Given the description of an element on the screen output the (x, y) to click on. 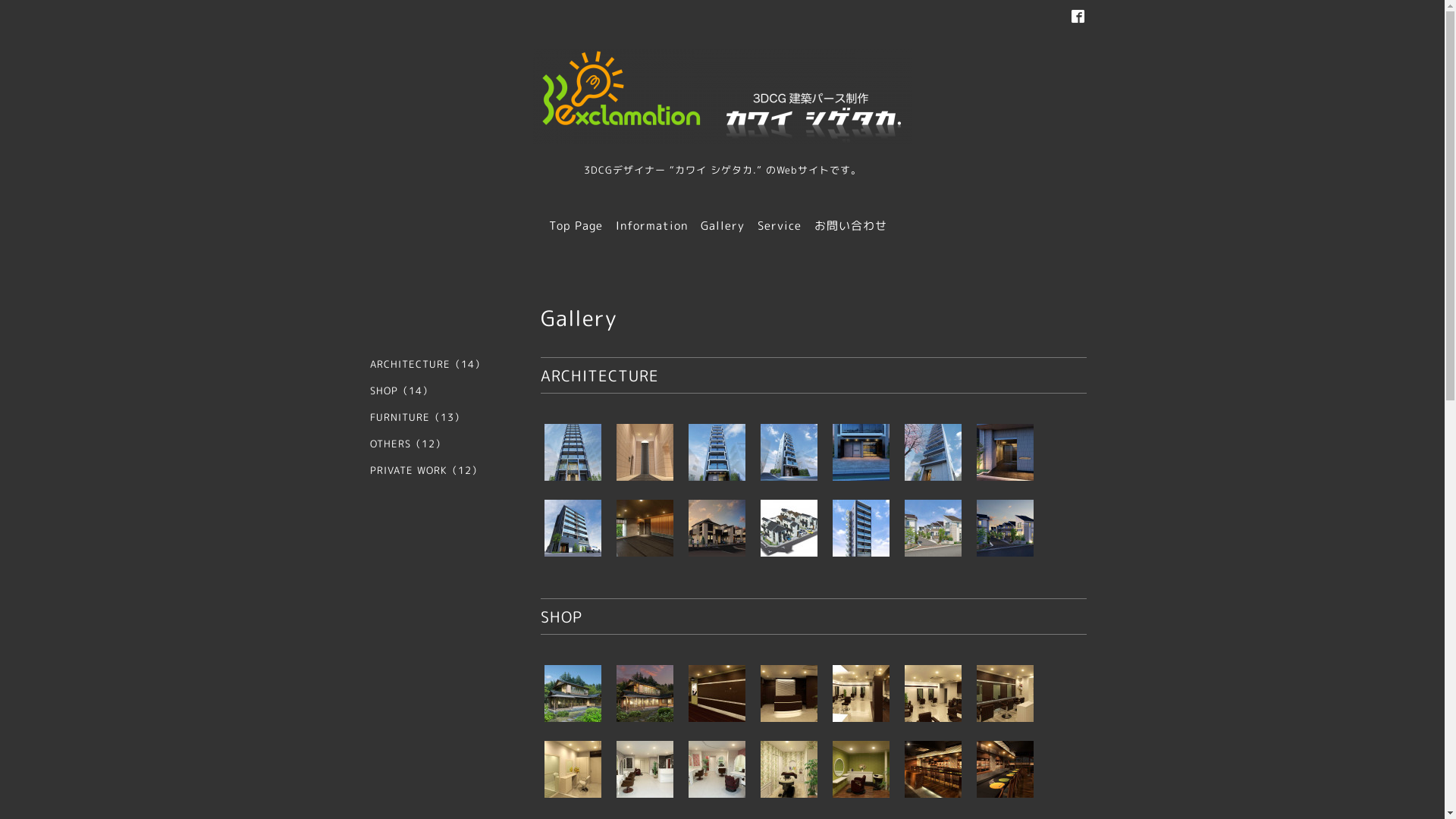
Service Element type: text (778, 225)
Gallery Element type: text (722, 225)
ARCHITECTURE Element type: text (598, 374)
SHOP Element type: text (560, 616)
Top Page Element type: text (575, 225)
Information Element type: text (651, 225)
